Given the description of an element on the screen output the (x, y) to click on. 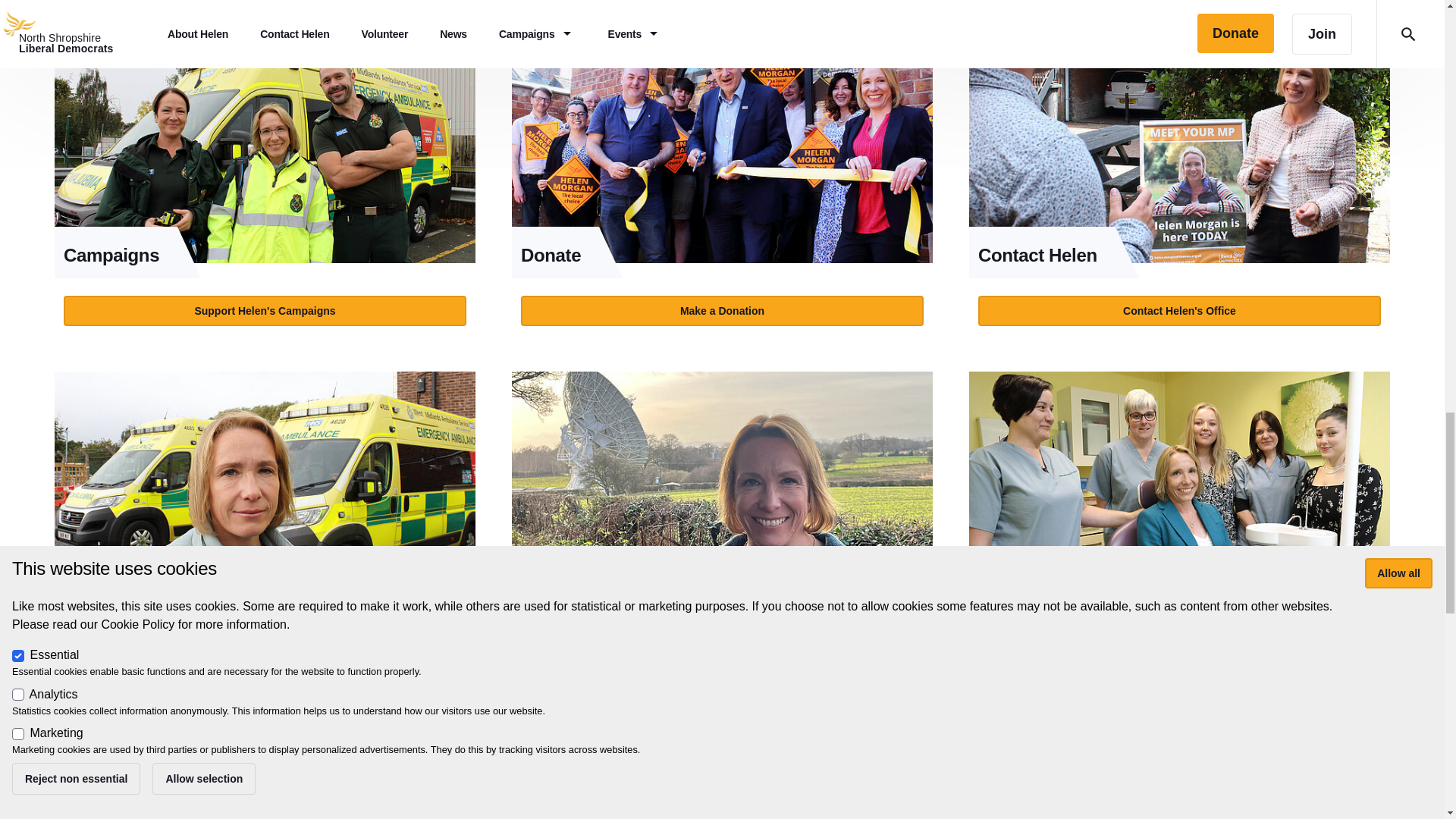
Rural Roaming Campaign (722, 489)
Support Helen's Ambulance Campaign (264, 655)
View (722, 180)
Donate (722, 144)
View (265, 180)
View (1179, 180)
Support Helen's Campaigns (264, 310)
Make a Donation (722, 310)
View (265, 525)
Contact Helen's Office (1179, 310)
